Given the description of an element on the screen output the (x, y) to click on. 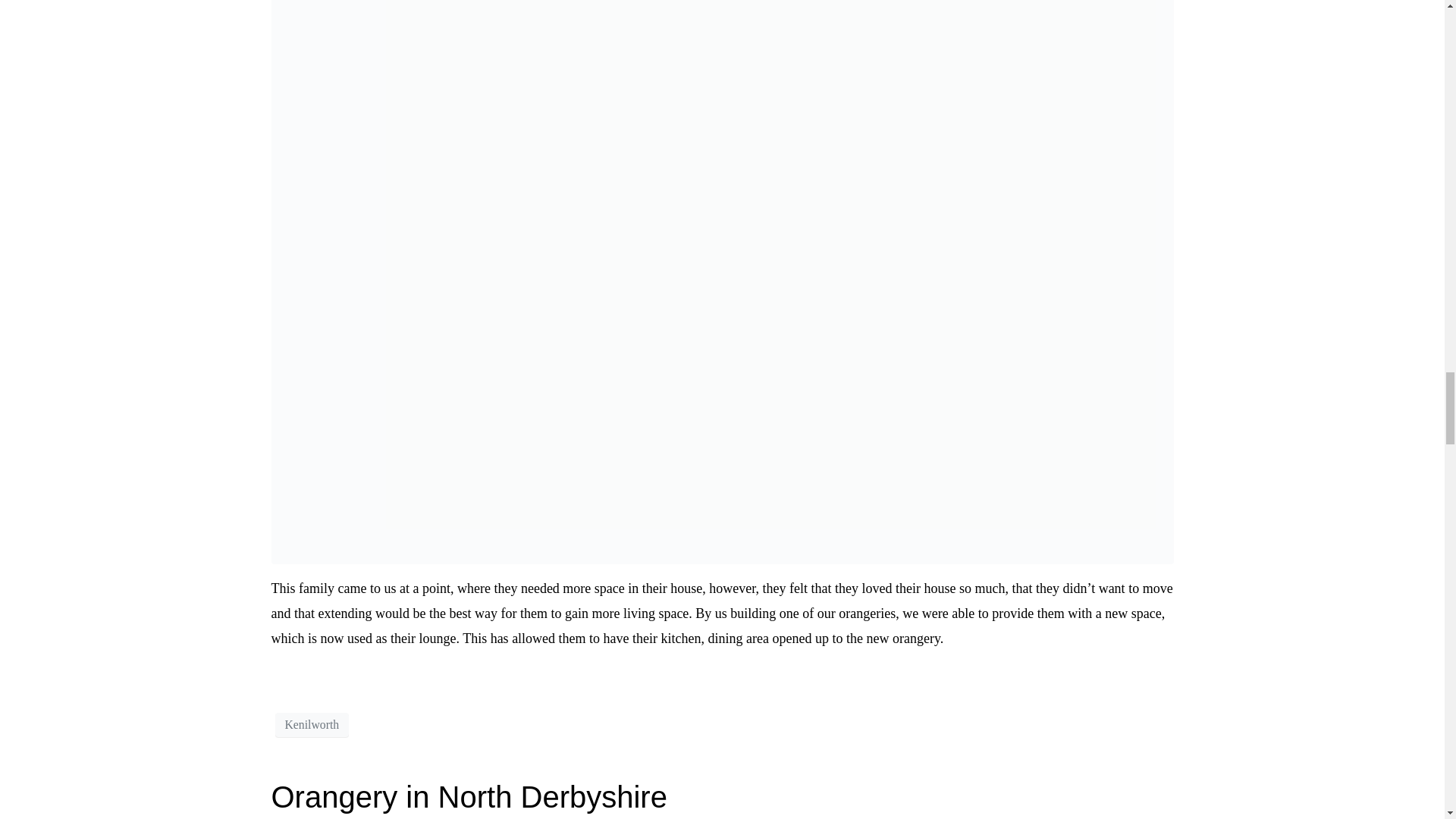
Orangery in Kenilworth (721, 224)
Orangery in North Derbyshire (468, 797)
